Given the description of an element on the screen output the (x, y) to click on. 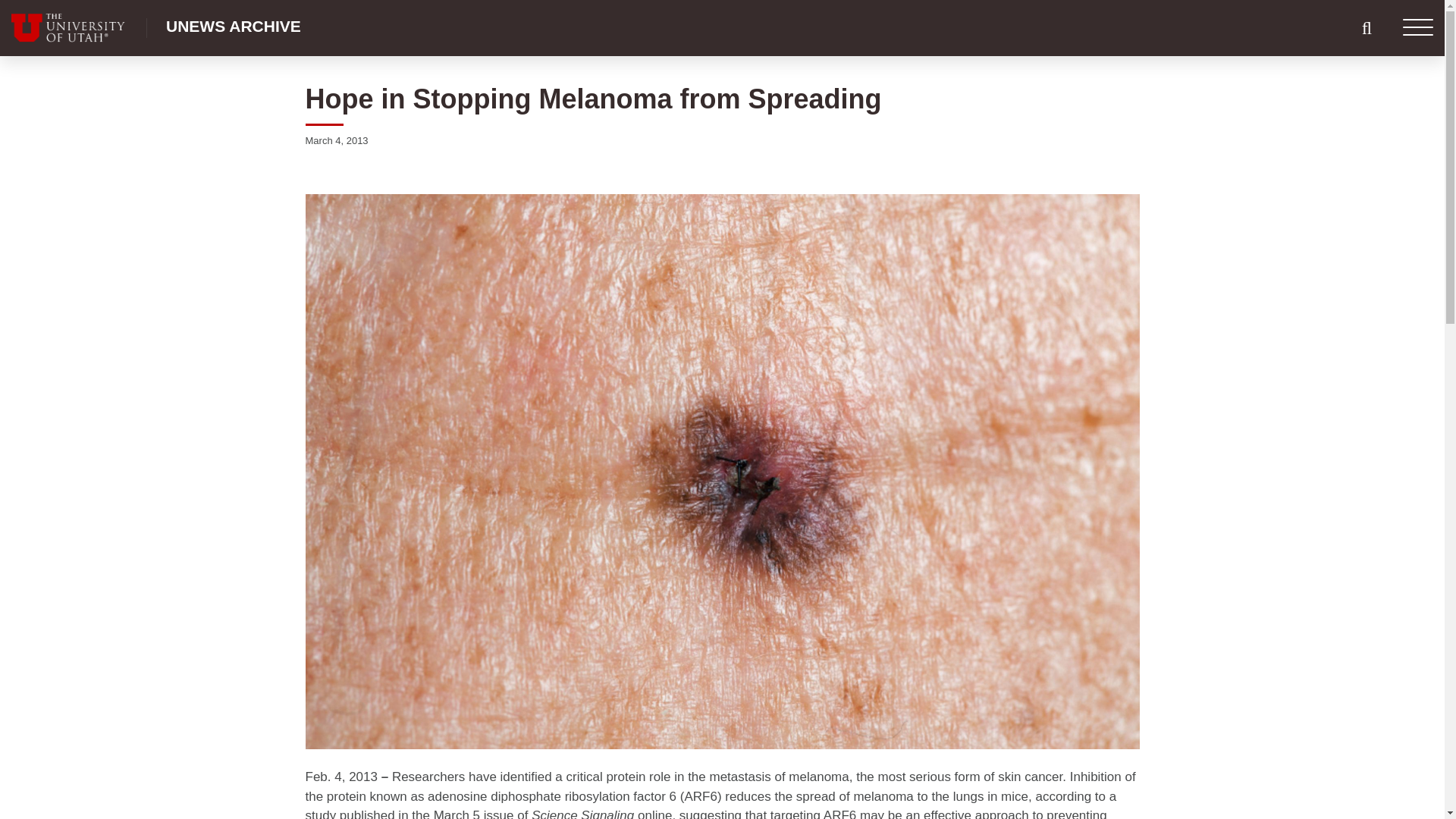
UNEWS ARCHIVE (233, 26)
